Given the description of an element on the screen output the (x, y) to click on. 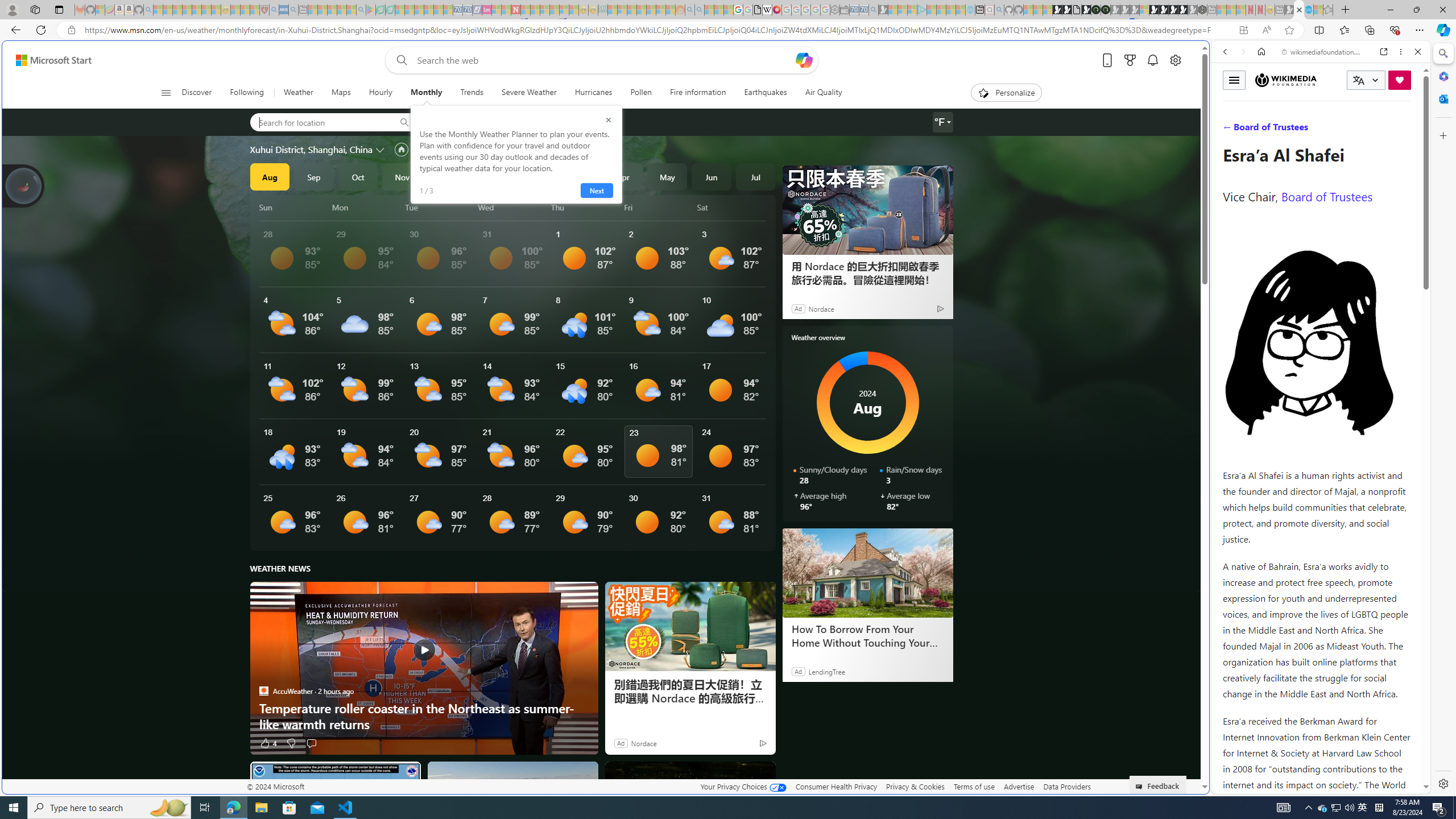
Mar (578, 176)
Tabs you've opened (885, 151)
Hourly (380, 92)
2025Jan (490, 176)
